Given the description of an element on the screen output the (x, y) to click on. 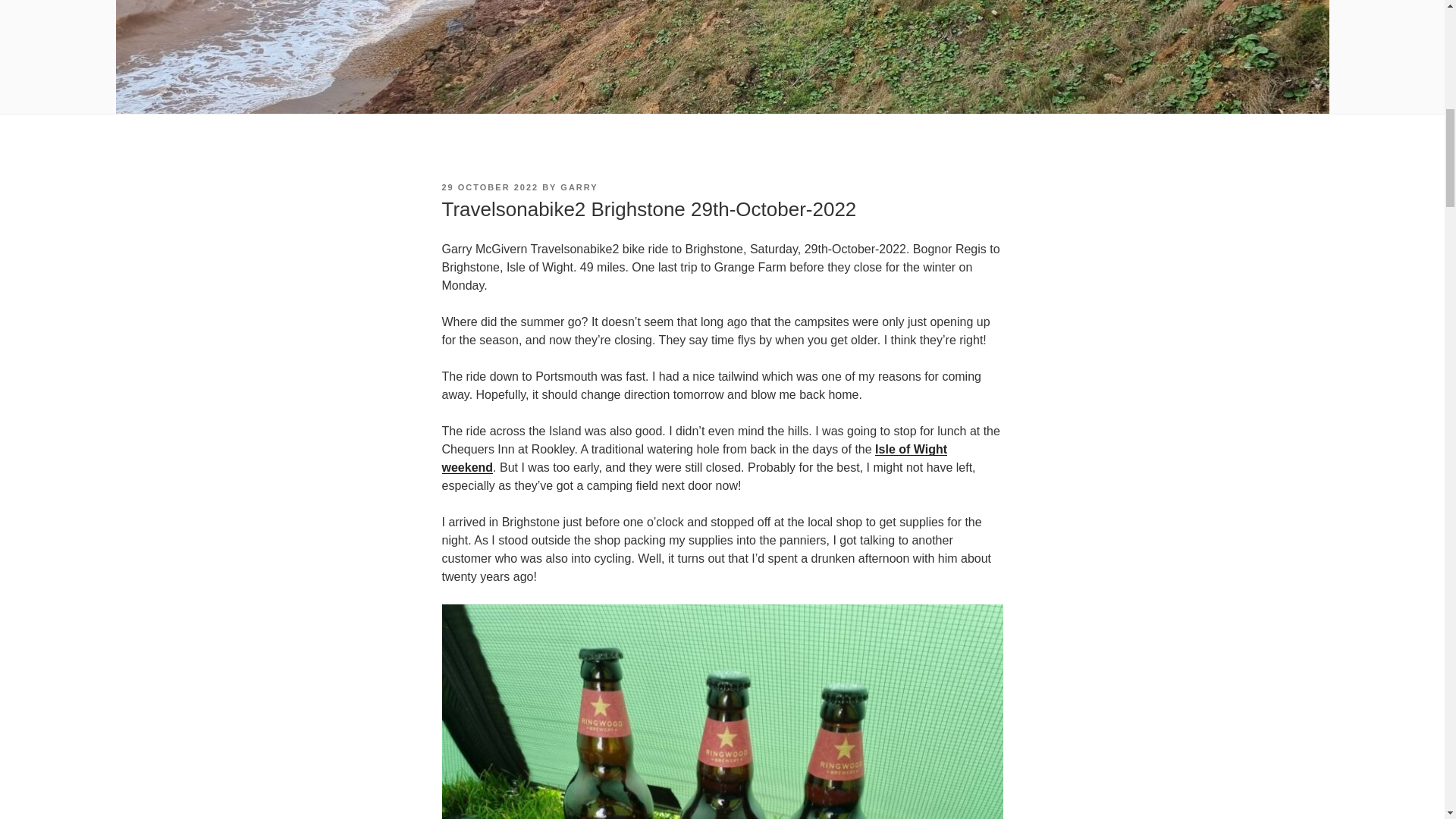
GARRY (578, 186)
29 OCTOBER 2022 (489, 186)
Isle of Wight weekend (694, 458)
